Given the description of an element on the screen output the (x, y) to click on. 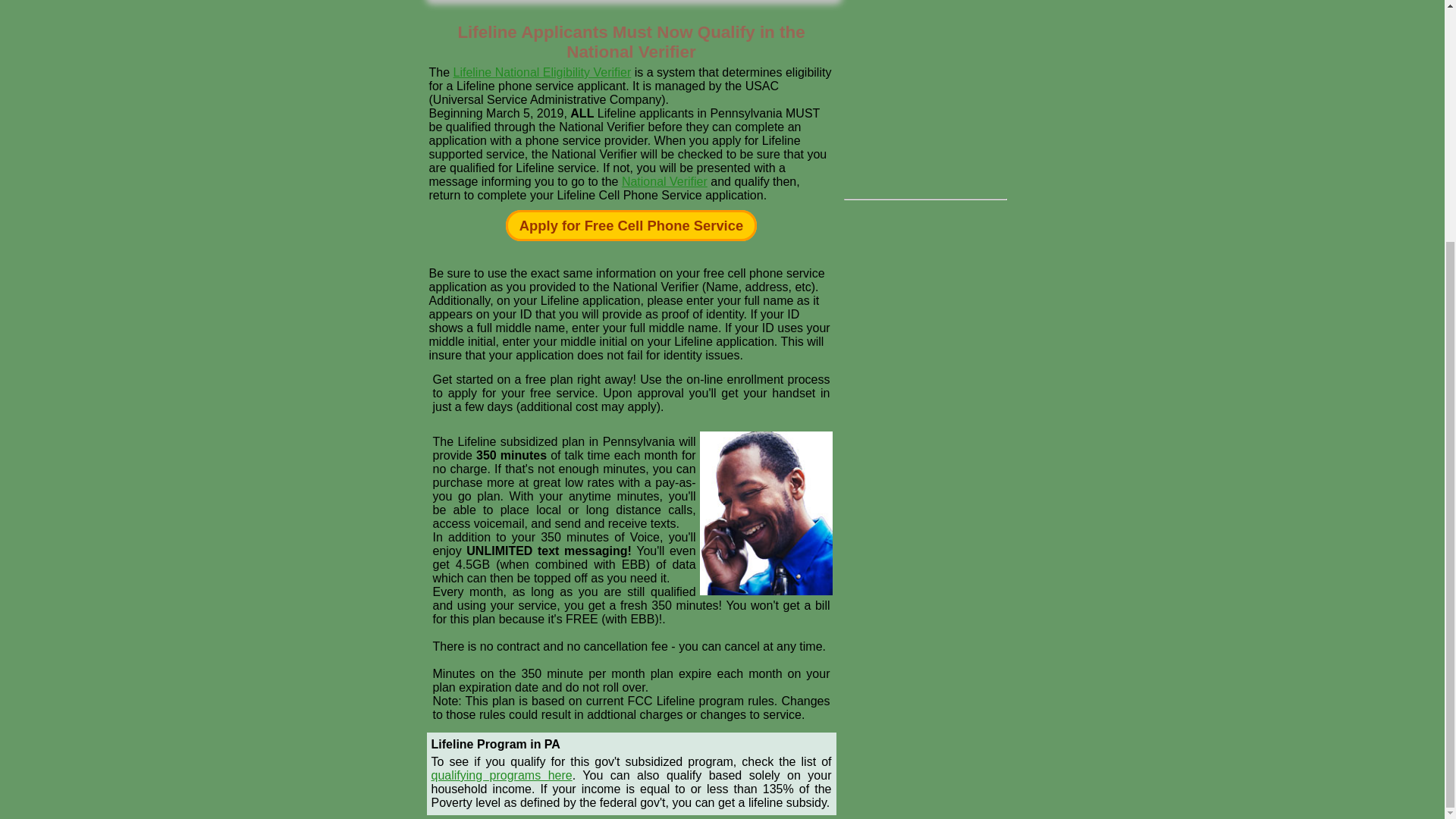
qualifying programs here (501, 775)
Apply for Free Cell Phone Service (631, 224)
Lifeline National Eligibility Verifier (541, 72)
National Verifier (664, 181)
